Given the description of an element on the screen output the (x, y) to click on. 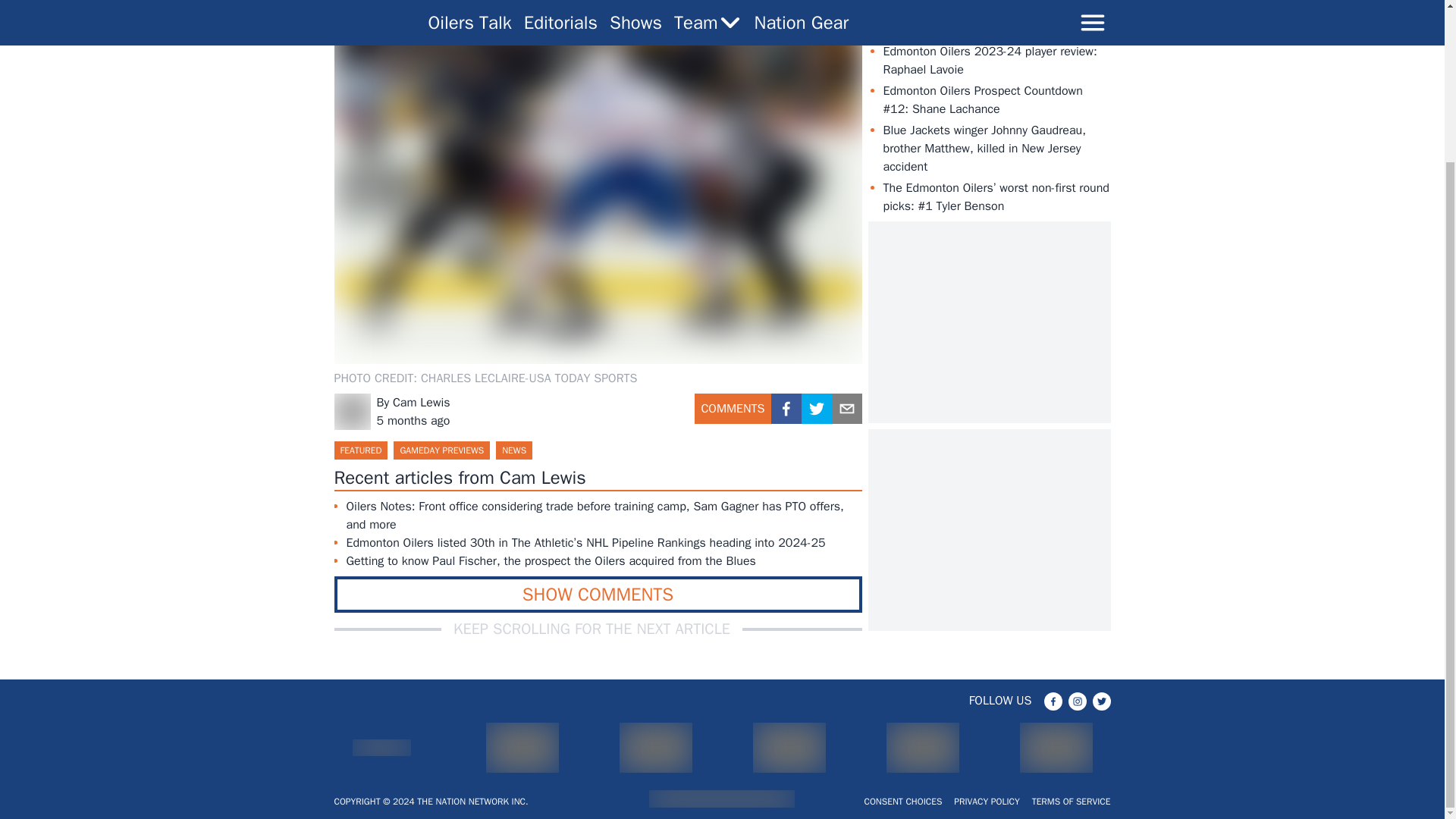
FEATURED (360, 450)
SHOW COMMENTS (597, 594)
GAMEDAY PREVIEWS (441, 450)
COMMENTS (732, 413)
SHOW COMMENTS (597, 594)
Edmonton Oilers 2023-24 player review: Raphael Lavoie (989, 60)
NEWS (514, 450)
